Given the description of an element on the screen output the (x, y) to click on. 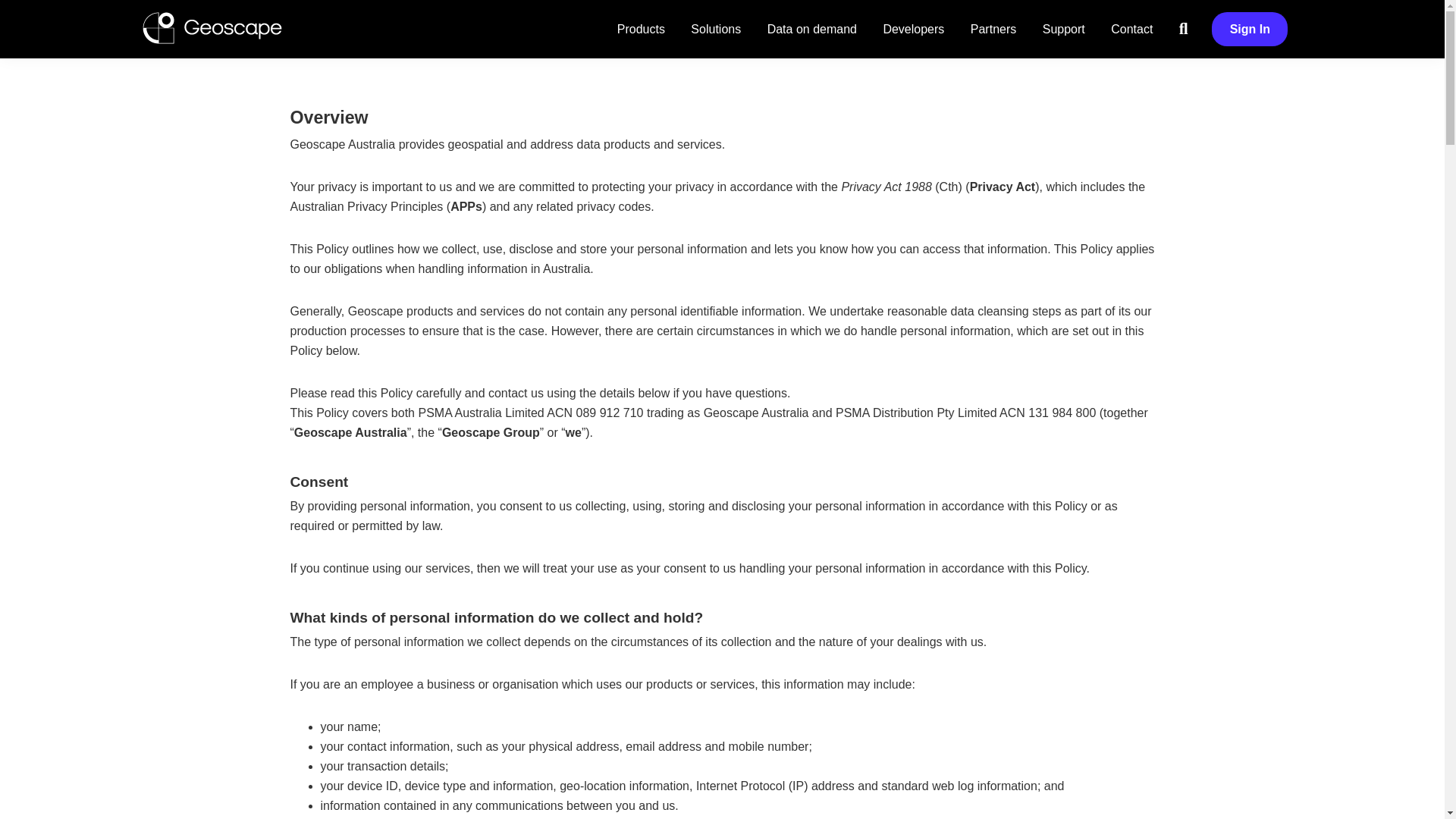
Developers (912, 28)
Solutions (715, 28)
Contact (1131, 28)
Partners (993, 28)
Support (1063, 28)
Search (1183, 28)
Data on demand (811, 28)
Sign In (1249, 28)
Products (641, 28)
